Given the description of an element on the screen output the (x, y) to click on. 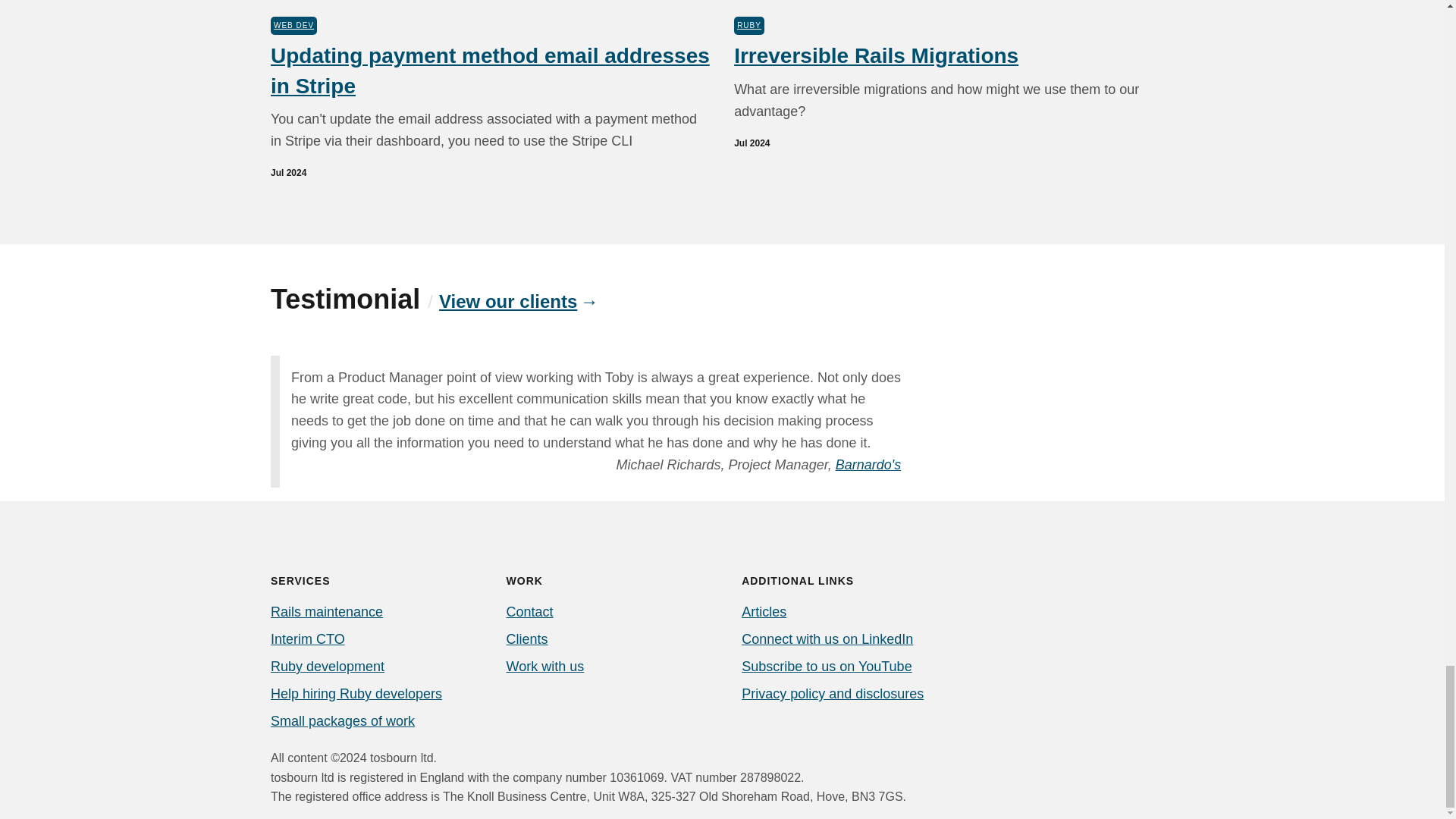
RUBY (748, 25)
Privacy policy and disclosures (832, 693)
Ruby development (327, 666)
Irreversible Rails Migrations (875, 55)
Updating payment method email addresses in Stripe (490, 70)
Work with us (545, 666)
WEB DEV (293, 25)
Rails maintenance (326, 611)
Contact (529, 611)
Clients (527, 639)
